Given the description of an element on the screen output the (x, y) to click on. 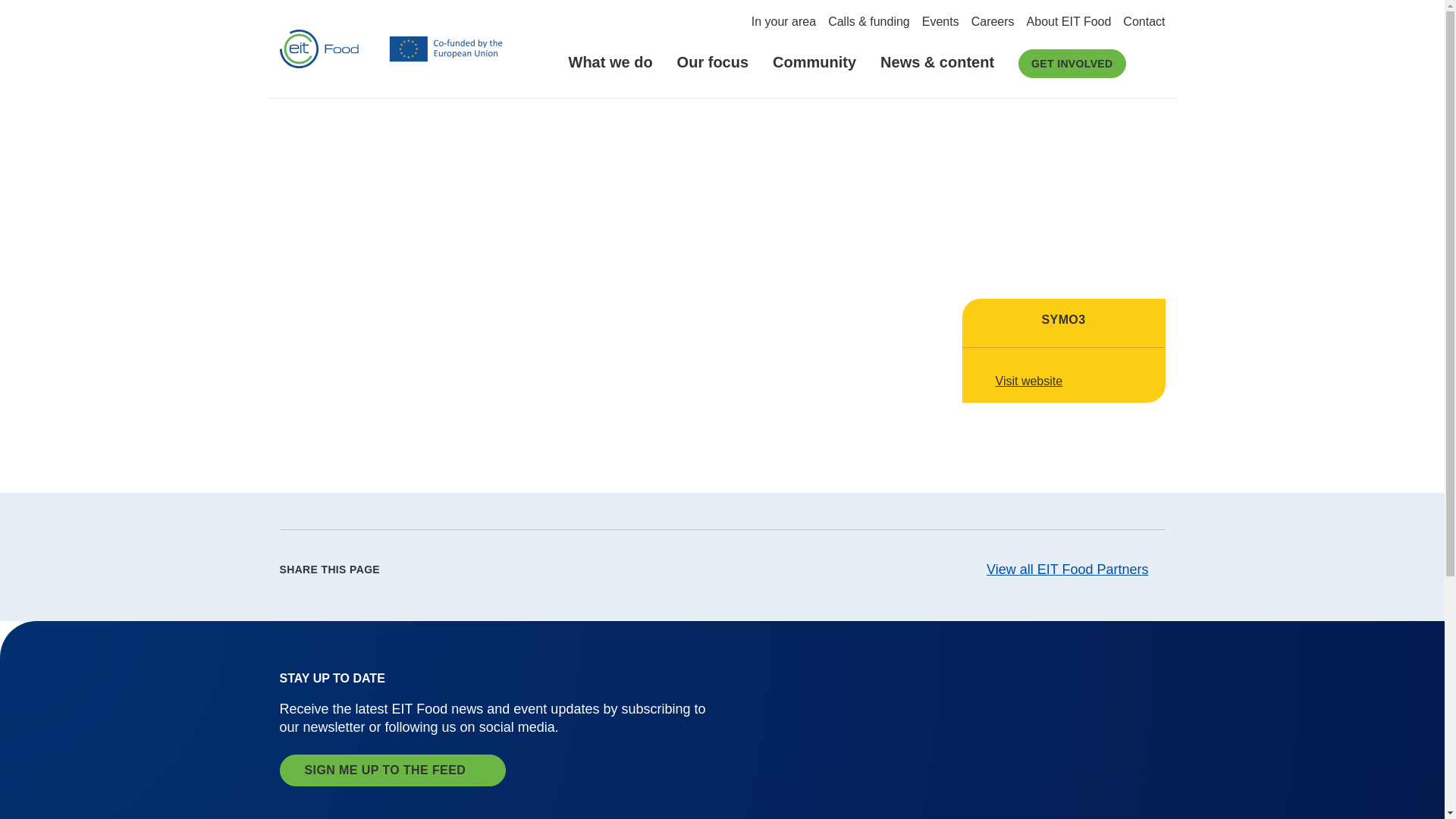
In your area (783, 21)
Careers (992, 21)
About EIT Food (1069, 21)
Contact (1143, 21)
Our focus (712, 73)
Events (940, 21)
Community (813, 73)
What we do (610, 73)
